Given the description of an element on the screen output the (x, y) to click on. 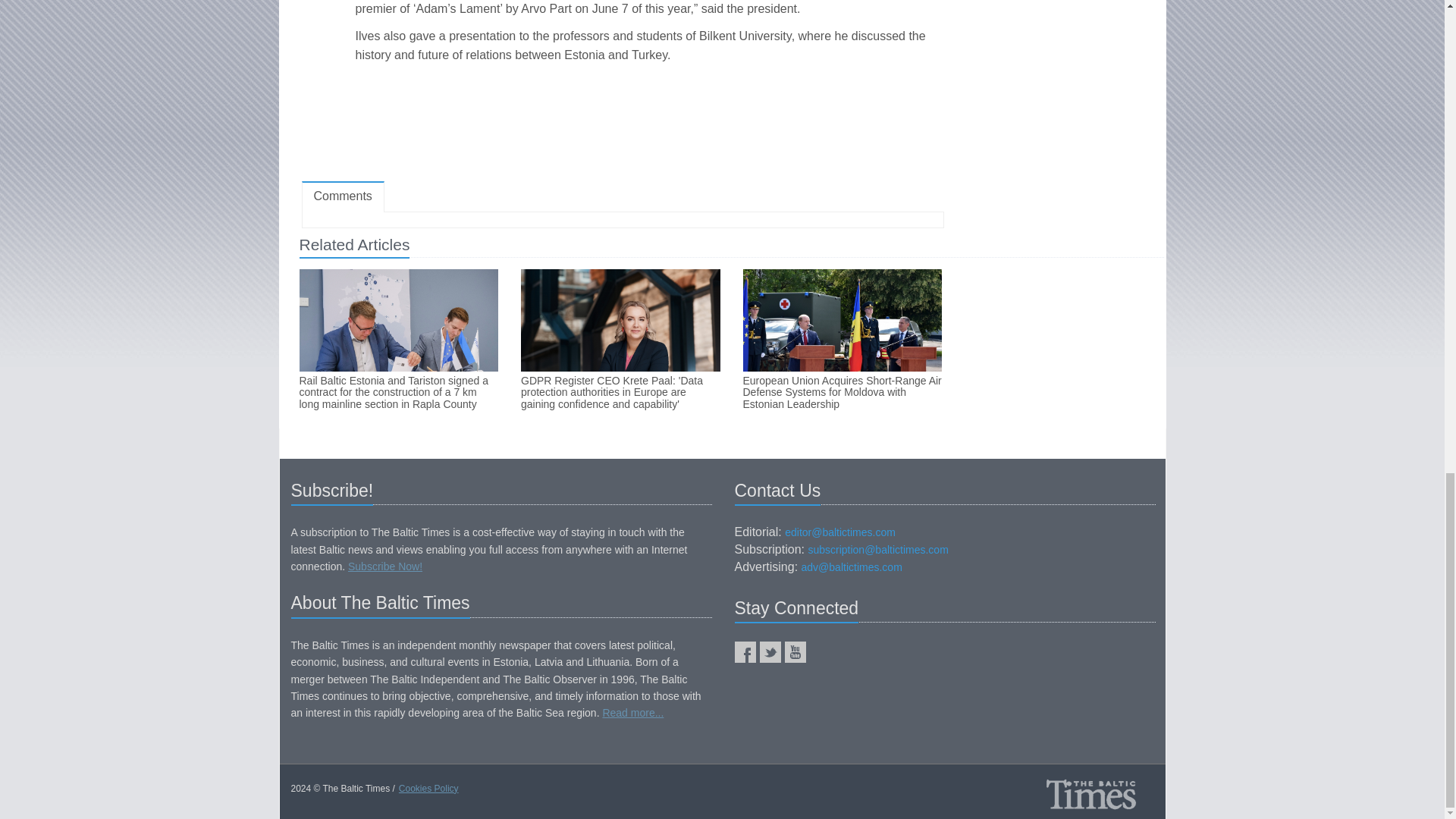
Comments (342, 196)
Advertisement (622, 125)
